Given the description of an element on the screen output the (x, y) to click on. 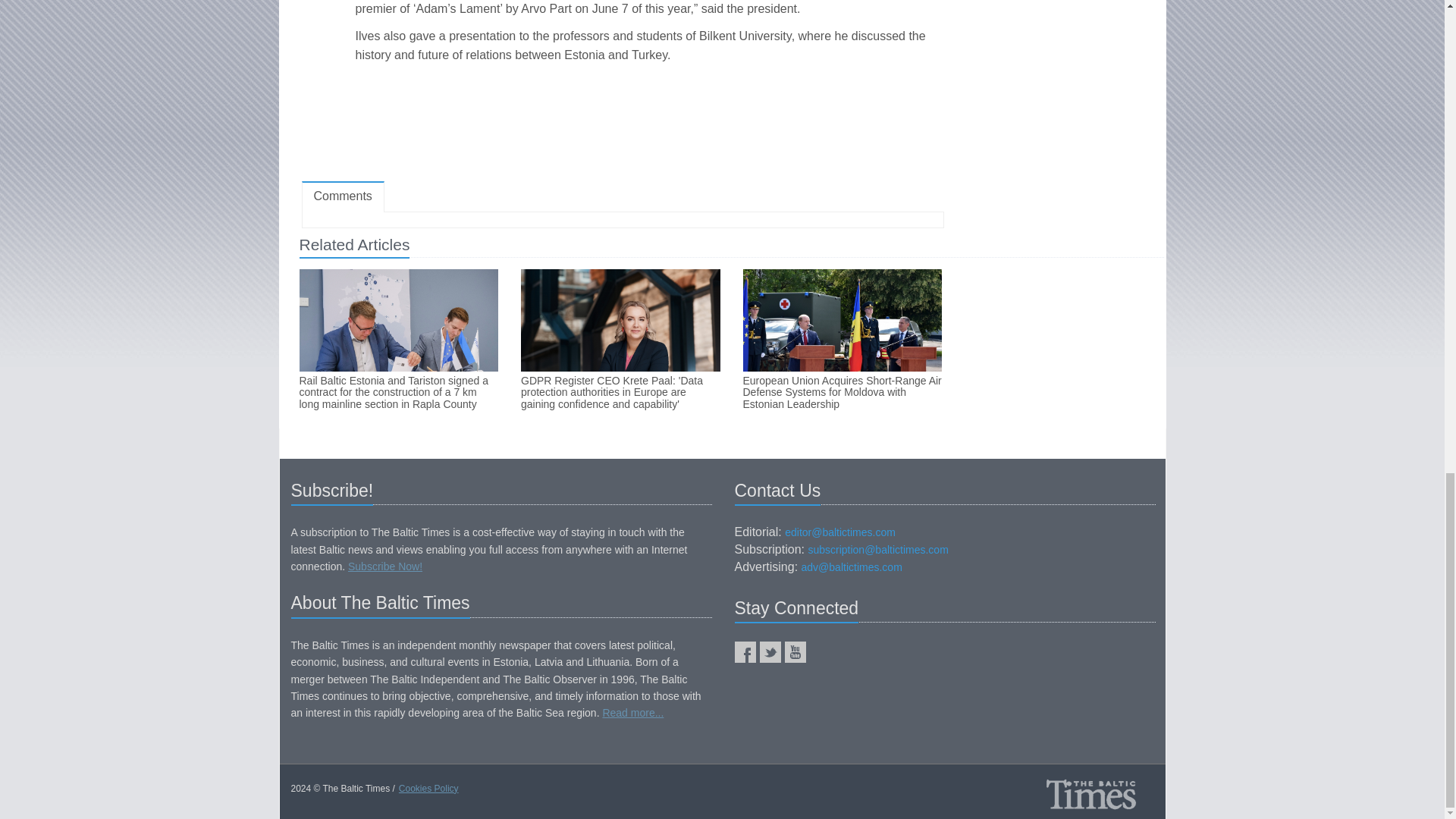
Comments (342, 196)
Advertisement (622, 125)
